Given the description of an element on the screen output the (x, y) to click on. 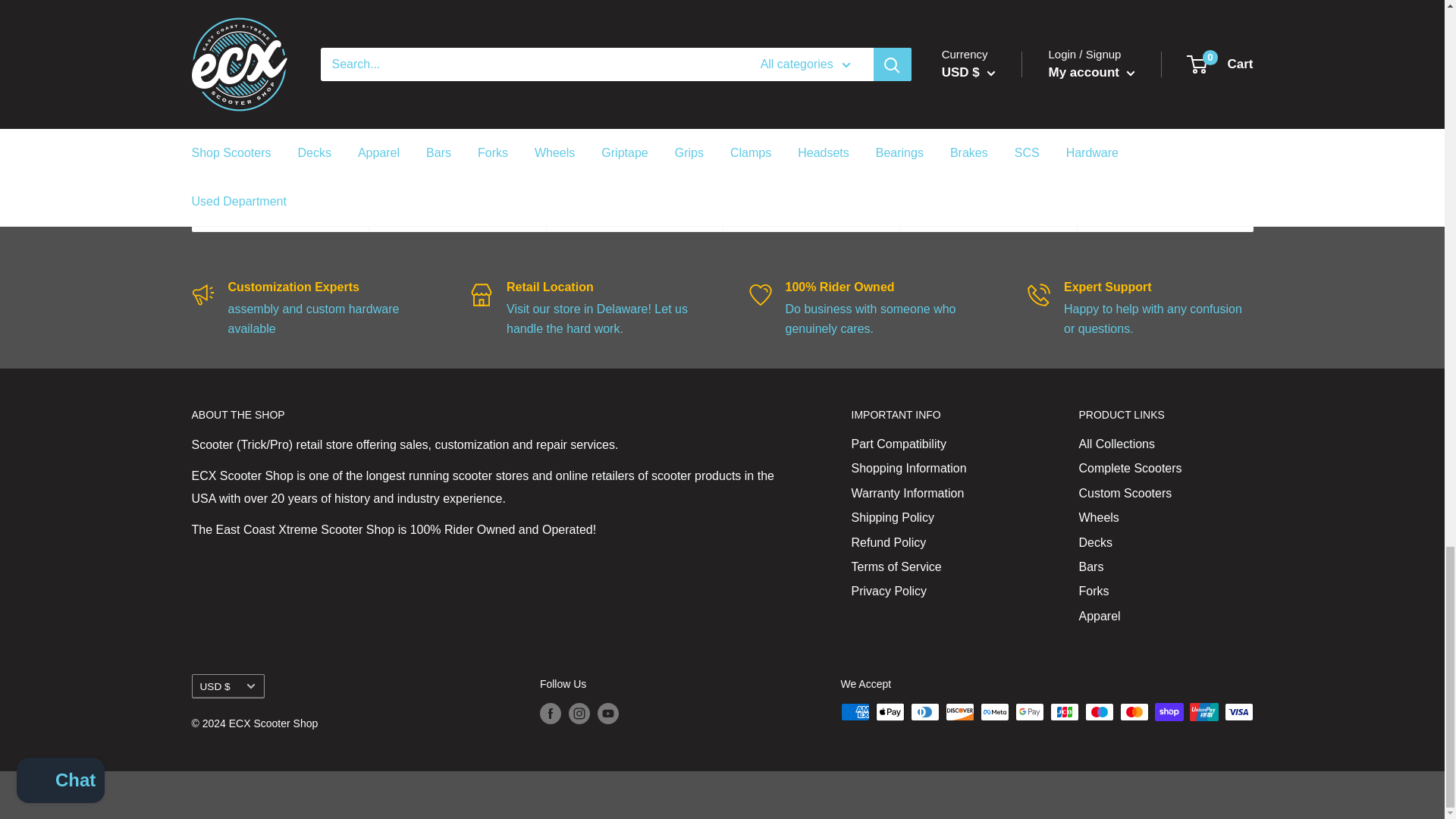
Black (1101, 149)
Black (924, 149)
Grey (946, 149)
Blue (1123, 149)
